Given the description of an element on the screen output the (x, y) to click on. 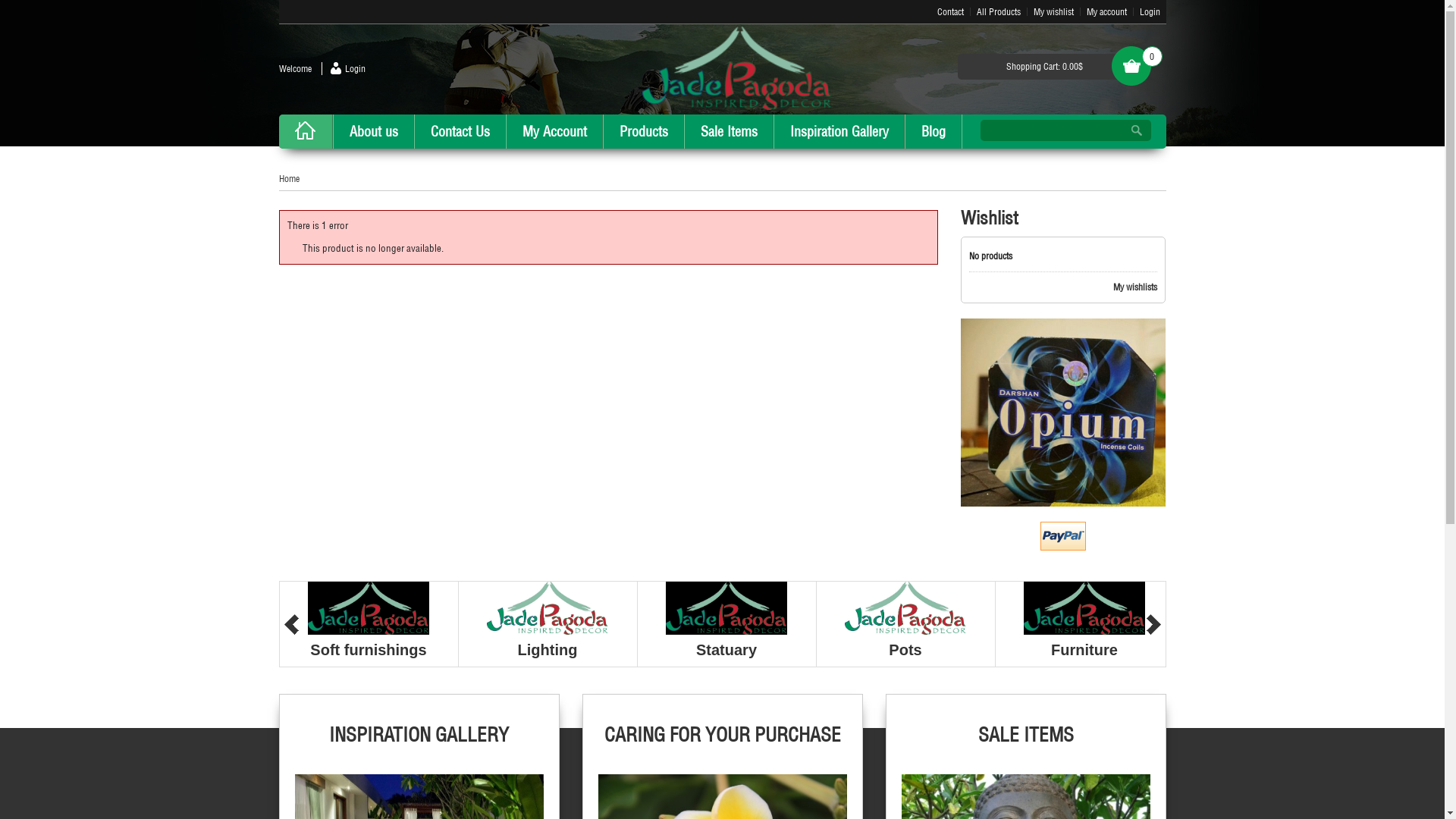
My wishlist Element type: text (1052, 11)
Inspiration Gallery Element type: text (839, 131)
Pots Element type: text (904, 649)
Statuary Element type: text (726, 649)
Previous Element type: text (290, 624)
Furniture Element type: text (1084, 649)
INSPIRATION GALLERY Element type: hover (418, 794)
INSPIRATION GALLERY Element type: text (418, 745)
Contact Us Element type: text (460, 131)
Next Element type: text (1153, 624)
Mega Menu Element type: hover (1024, 794)
Blog Element type: text (932, 131)
PrestaShop Element type: hover (1062, 412)
Login Element type: text (343, 68)
Login Element type: text (1149, 11)
My wishlists Element type: text (1063, 286)
Search Element type: text (1135, 130)
Pay with PayPal Element type: hover (1062, 535)
Jade Pagoda  Element type: hover (736, 67)
Sale Items Element type: text (728, 131)
Responsive Web Element type: hover (721, 794)
Shopping Cart: 0.00$ Element type: text (1044, 66)
My account Element type: text (1105, 11)
About us Element type: text (372, 131)
Lighting Element type: text (547, 649)
Contact Element type: text (950, 11)
Soft furnishings Element type: text (368, 649)
CARING FOR YOUR PURCHASE Element type: text (721, 745)
My Account Element type: text (553, 131)
All Products Element type: text (998, 11)
SALE ITEMS Element type: text (1024, 745)
PrestaShop Element type: hover (1062, 411)
Home Element type: text (289, 178)
